Given the description of an element on the screen output the (x, y) to click on. 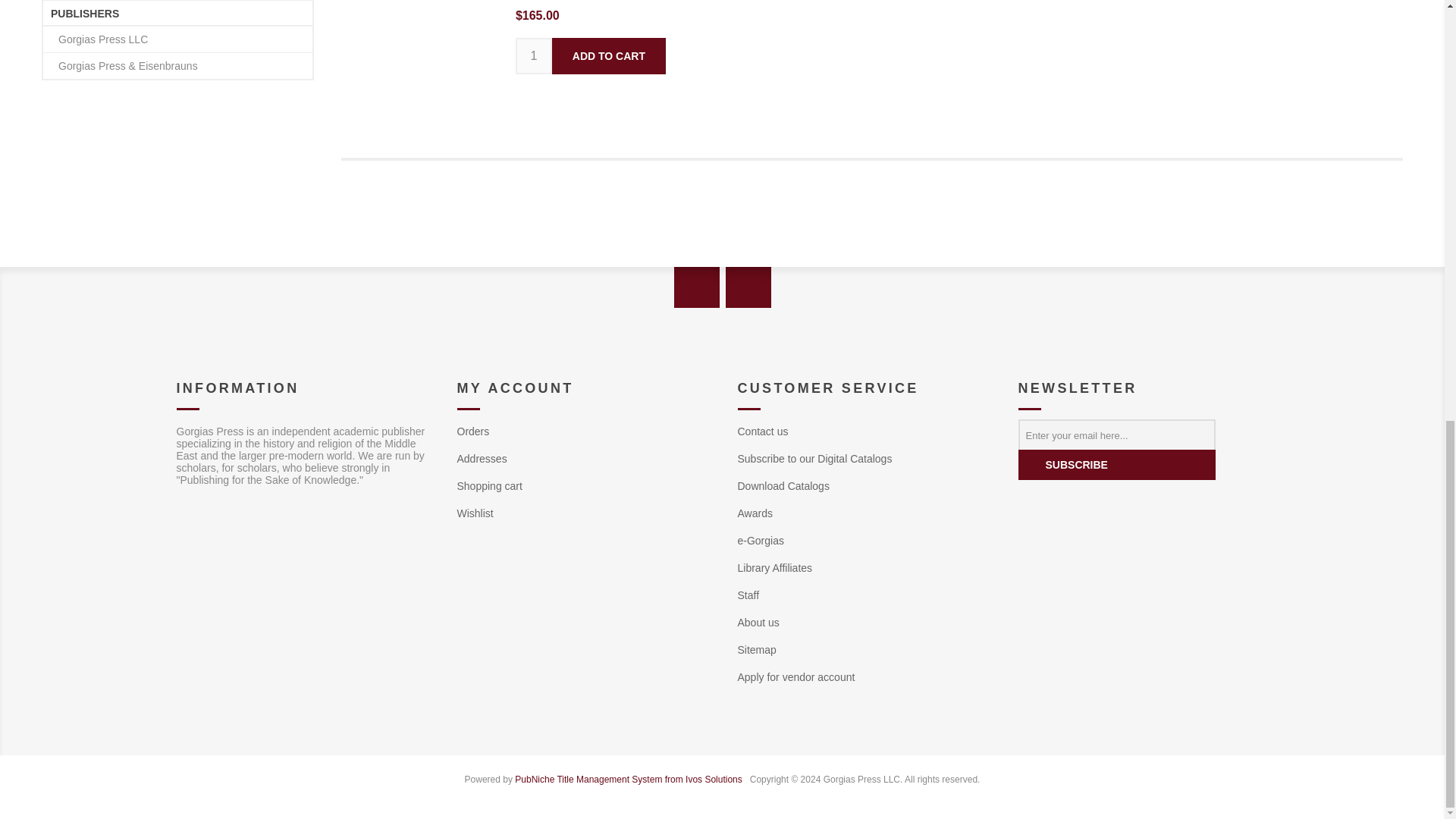
1 (533, 55)
